Given the description of an element on the screen output the (x, y) to click on. 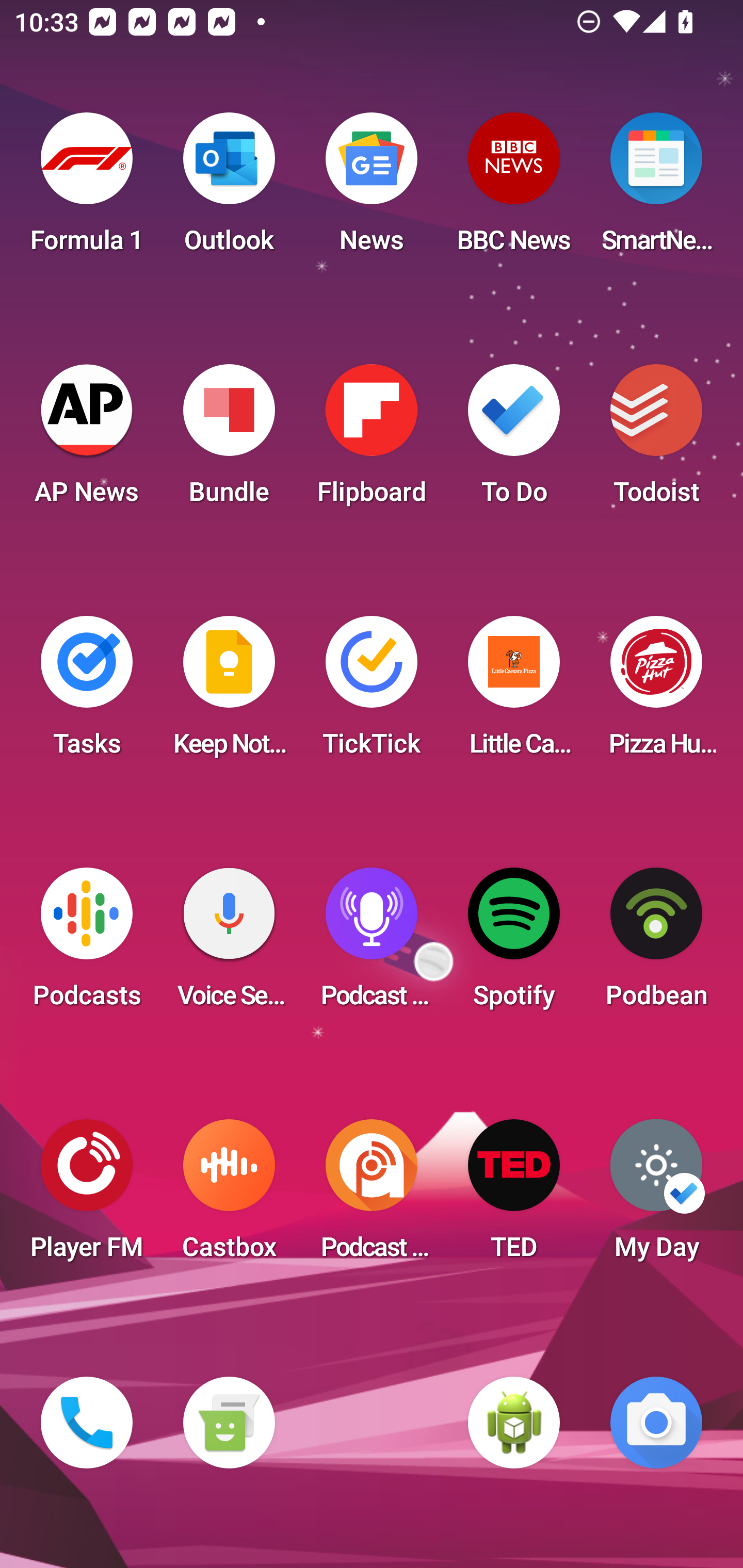
Formula 1 (86, 188)
Outlook (228, 188)
News (371, 188)
BBC News (513, 188)
SmartNews (656, 188)
AP News (86, 440)
Bundle (228, 440)
Flipboard (371, 440)
To Do (513, 440)
Todoist (656, 440)
Tasks (86, 692)
Keep Notes (228, 692)
TickTick (371, 692)
Little Caesars Pizza (513, 692)
Pizza Hut HK & Macau (656, 692)
Podcasts (86, 943)
Voice Search (228, 943)
Podcast Player (371, 943)
Spotify (513, 943)
Podbean (656, 943)
Player FM (86, 1195)
Castbox (228, 1195)
Podcast Addict (371, 1195)
TED (513, 1195)
My Day (656, 1195)
Phone (86, 1422)
Messaging (228, 1422)
WebView Browser Tester (513, 1422)
Camera (656, 1422)
